Given the description of an element on the screen output the (x, y) to click on. 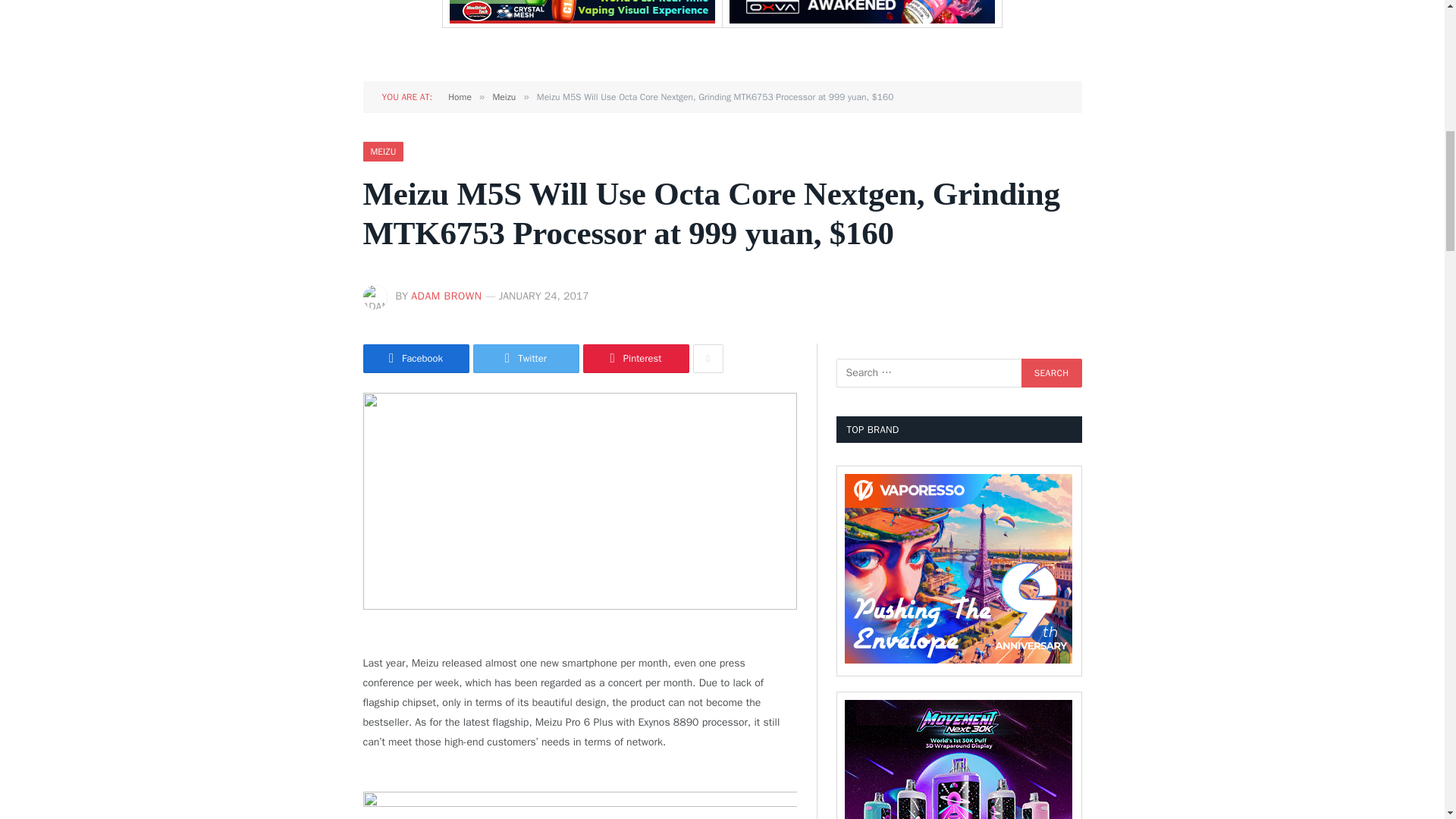
Search (1051, 372)
Search (1051, 372)
Show More Social Sharing (708, 358)
Share on Facebook (415, 358)
Posts by Adam BROWN (445, 295)
Share on Pinterest (635, 358)
Share on Twitter (526, 358)
